Given the description of an element on the screen output the (x, y) to click on. 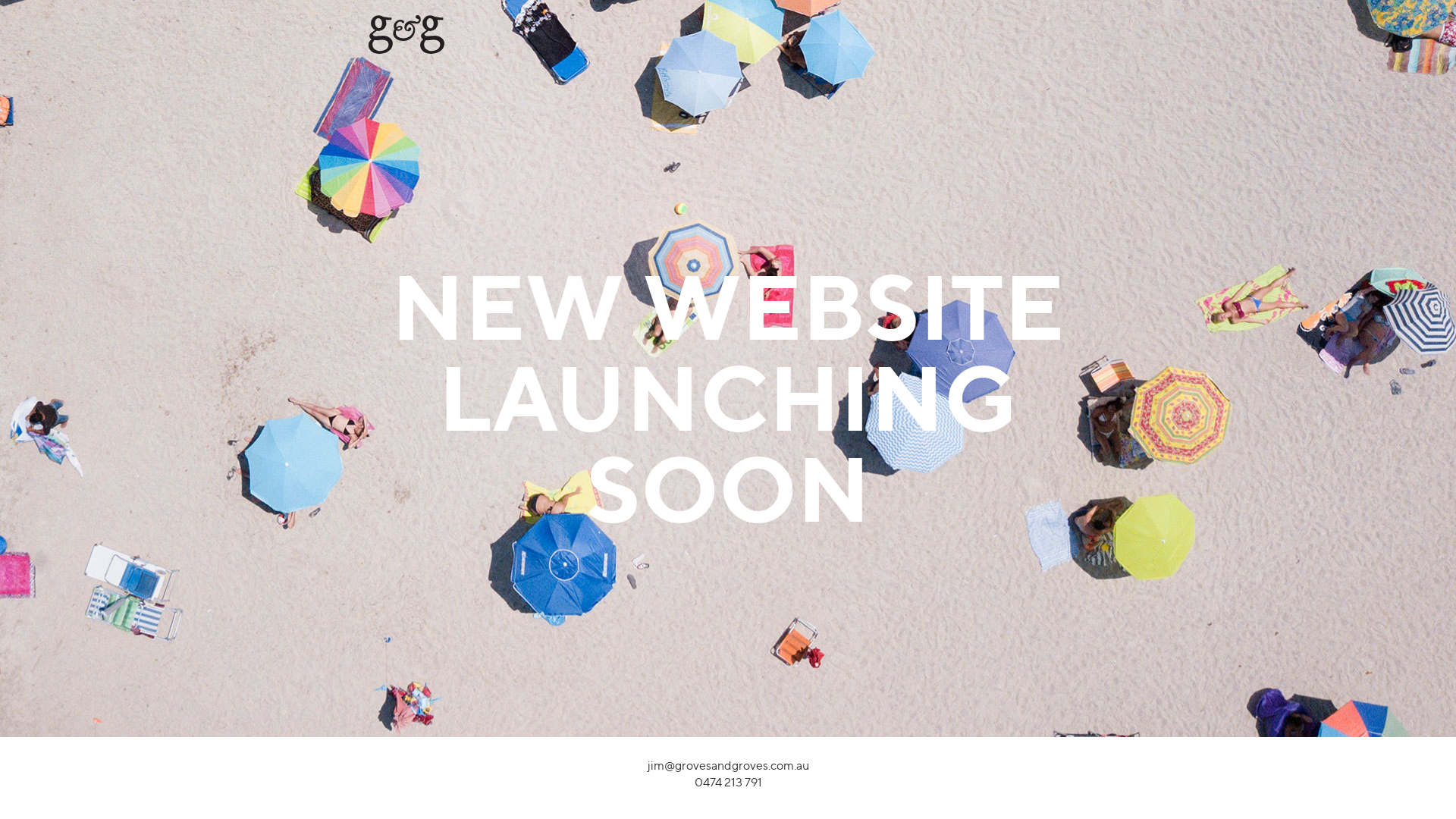
0474 213 791 Element type: text (728, 782)
jim@grovesandgroves.com.au Element type: text (728, 765)
